Given the description of an element on the screen output the (x, y) to click on. 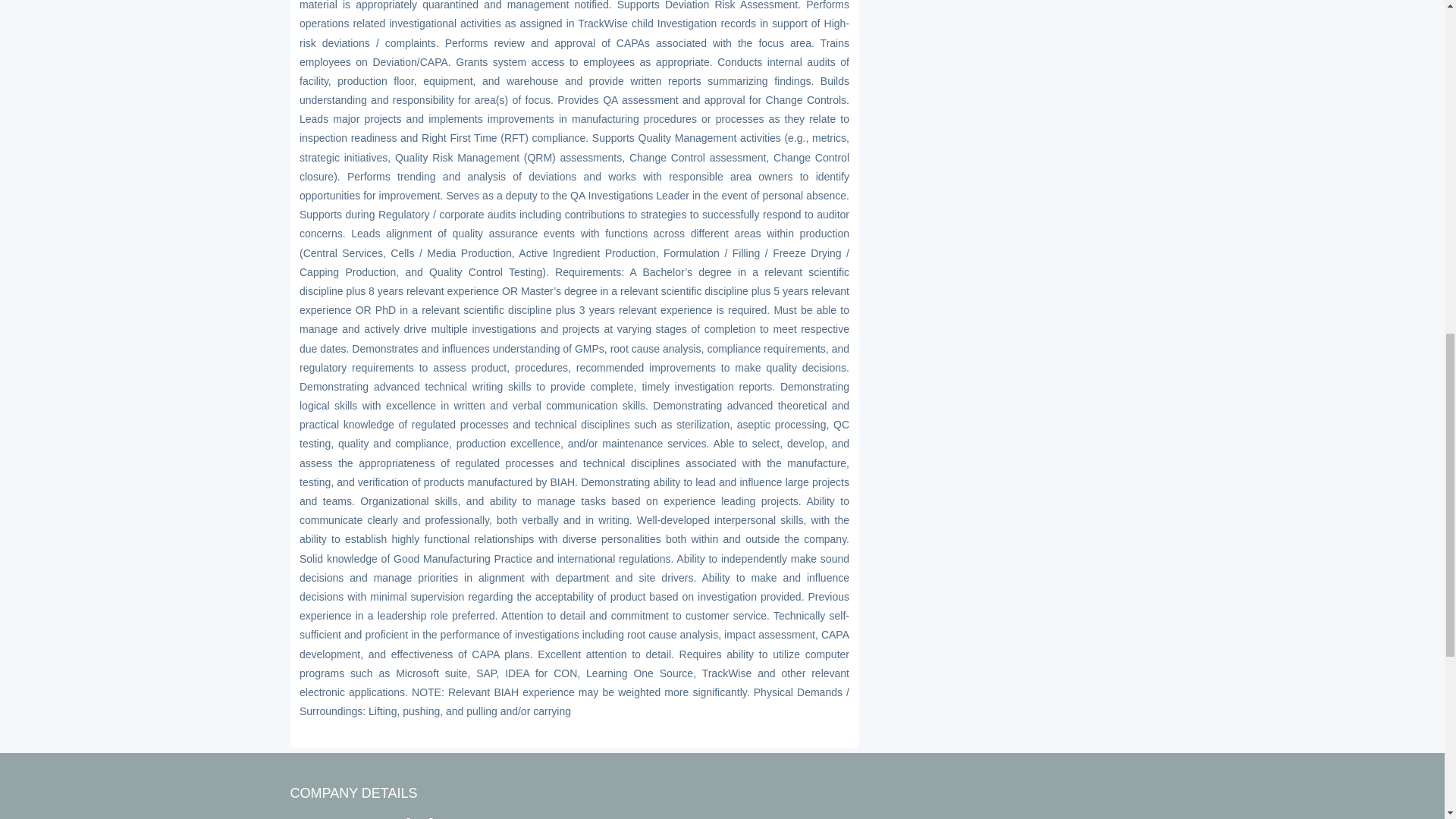
Boehringer Ingelheim (469, 815)
